Given the description of an element on the screen output the (x, y) to click on. 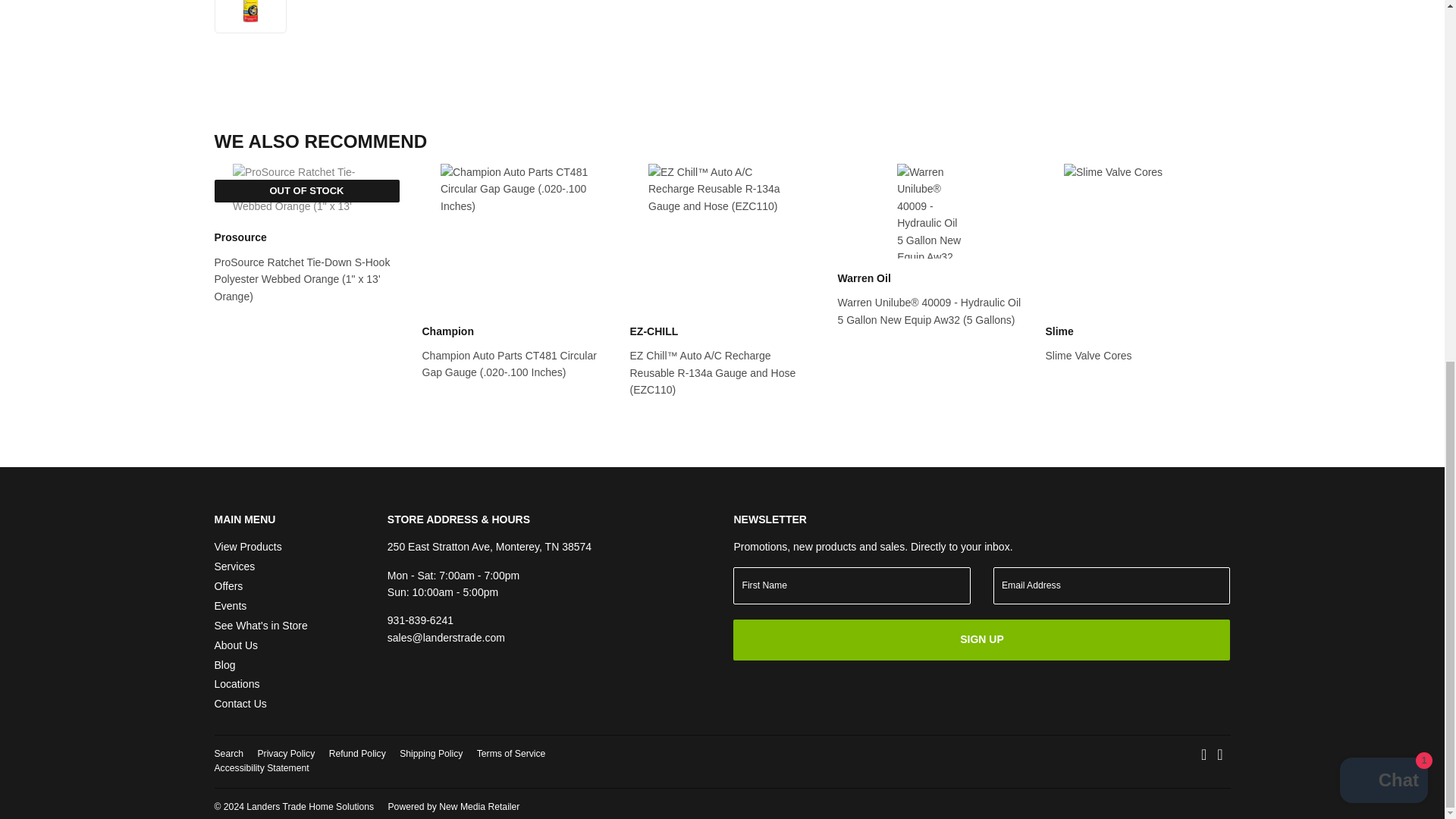
Landers Trade Home Solutions on Facebook (1204, 756)
Landers Trade Home Solutions on Instagram (1220, 756)
New Media Retailer (453, 806)
Shopify online store chat (1383, 138)
tel:931-839-6241 (419, 620)
